Given the description of an element on the screen output the (x, y) to click on. 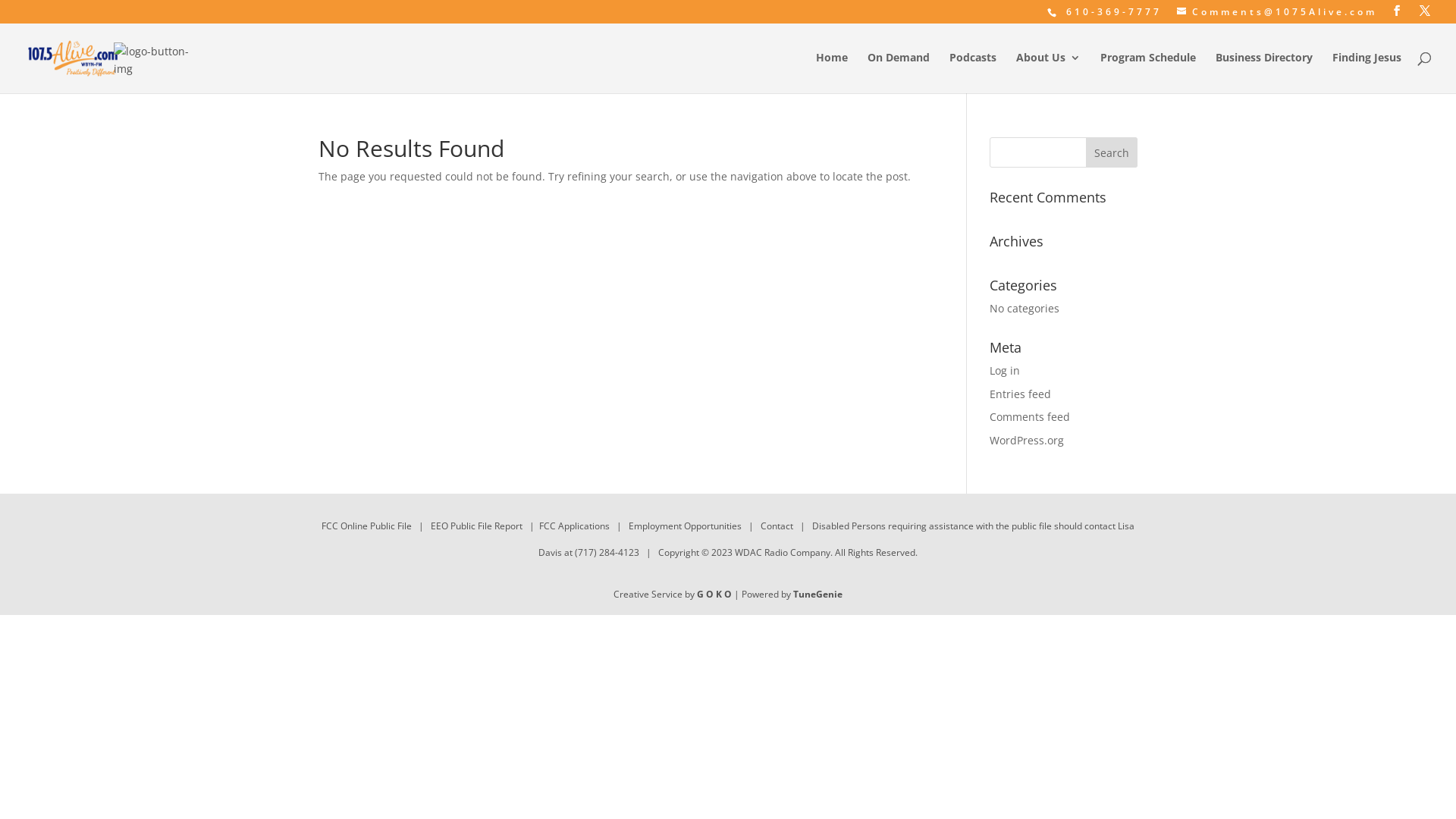
Home Element type: text (831, 72)
About Us Element type: text (1048, 72)
Employment Opportunities Element type: text (684, 525)
Comments feed Element type: text (1029, 416)
WordPress.org Element type: text (1026, 440)
Contact Element type: text (776, 525)
On Demand Element type: text (898, 72)
FCC Online Public File Element type: text (366, 525)
Log in Element type: text (1004, 370)
Search Element type: text (1111, 152)
Finding Jesus Element type: text (1366, 72)
FCC Applications Element type: text (574, 525)
Program Schedule Element type: text (1147, 72)
EEO Public File Report Element type: text (476, 525)
Comments@1075Alive.com Element type: text (1276, 11)
Podcasts Element type: text (972, 72)
Entries feed Element type: text (1020, 393)
Business Directory Element type: text (1263, 72)
